Given the description of an element on the screen output the (x, y) to click on. 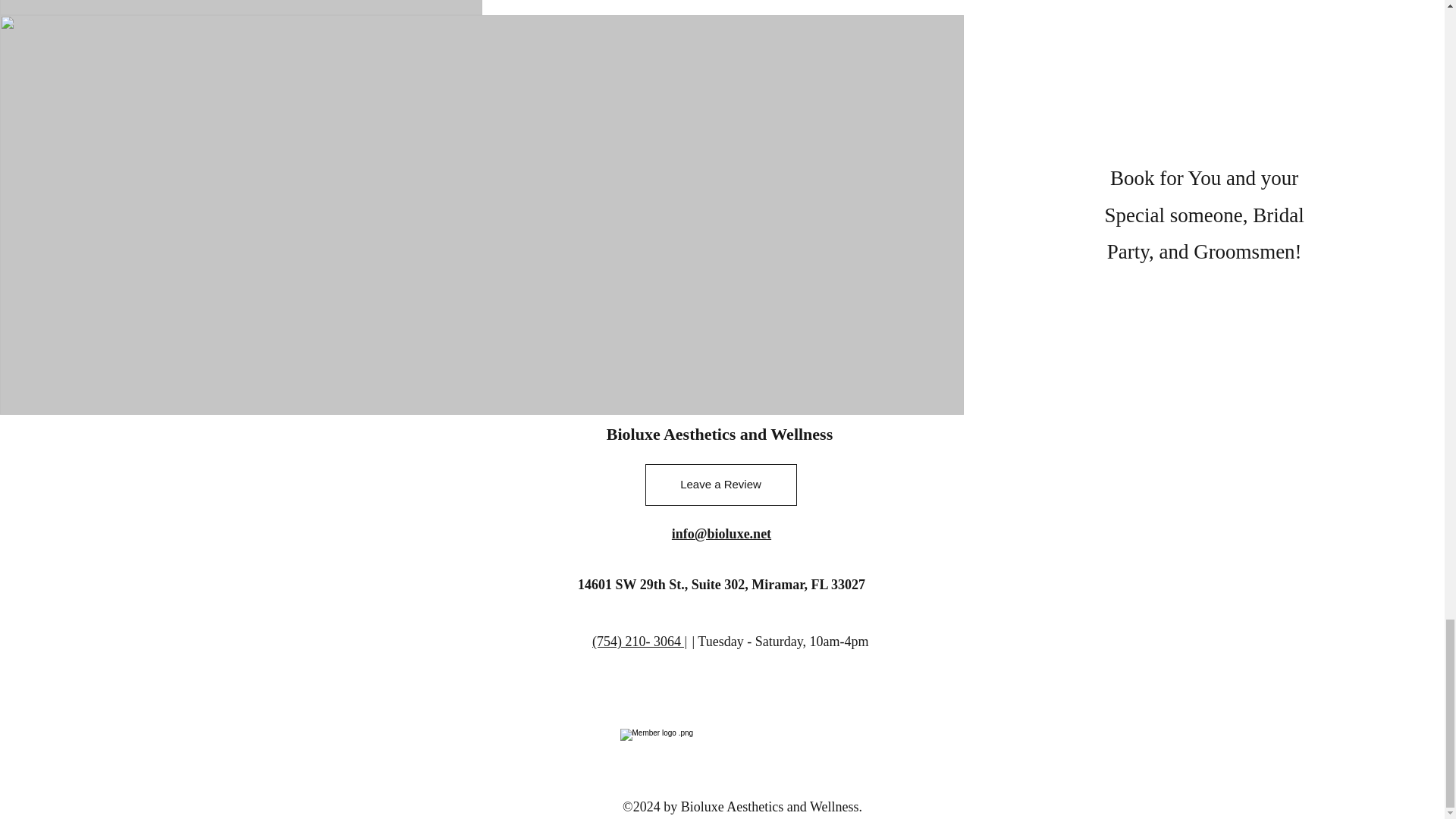
Leave a Review (720, 485)
Bioluxe Aesthetics and Wellness (719, 434)
